Given the description of an element on the screen output the (x, y) to click on. 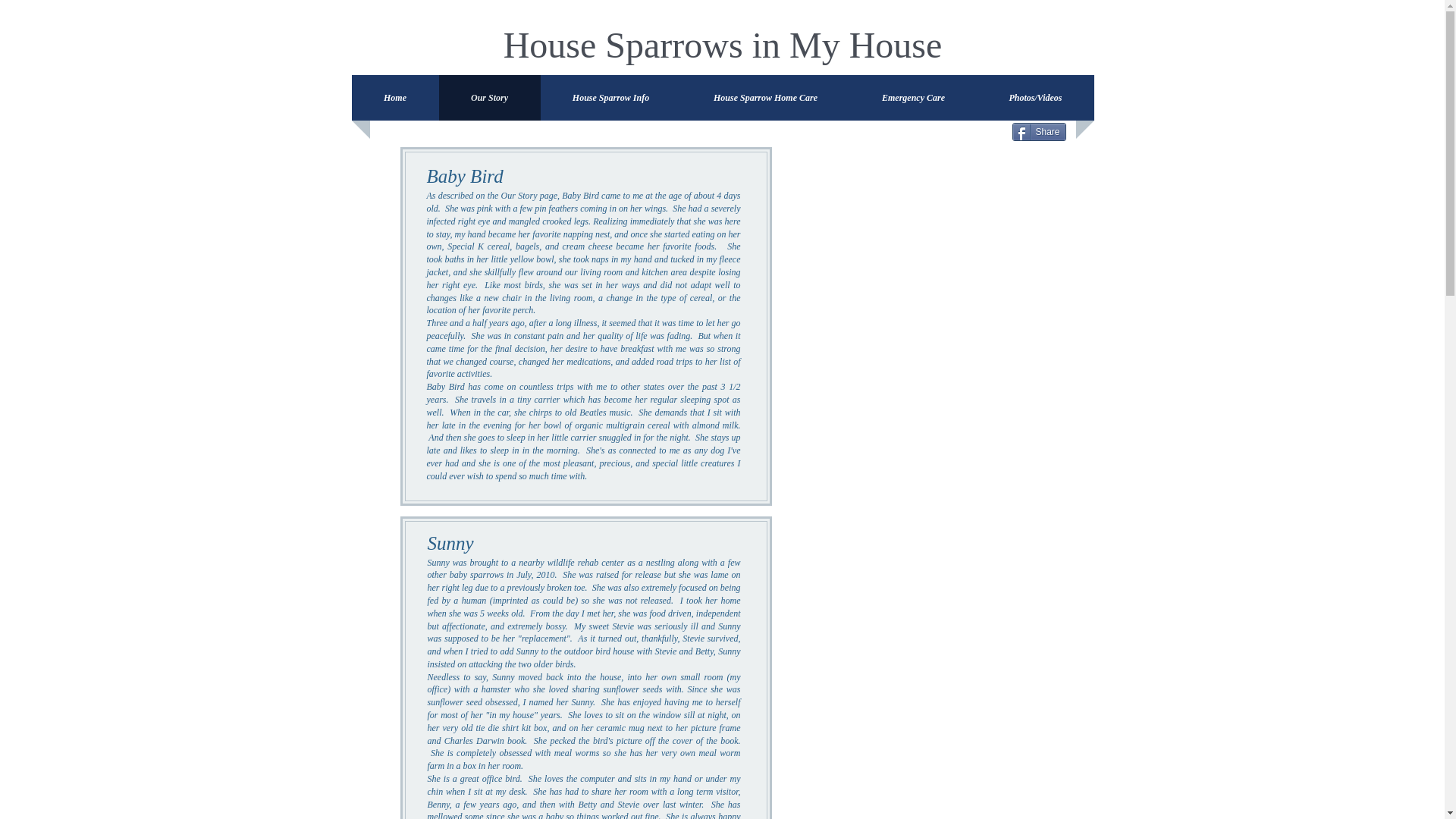
Share (1038, 131)
House Sparrow Home Care (764, 97)
Our Story (488, 97)
House Sparrow Info (609, 97)
Emergency Care (913, 97)
Home (394, 97)
Share (1038, 131)
